Given the description of an element on the screen output the (x, y) to click on. 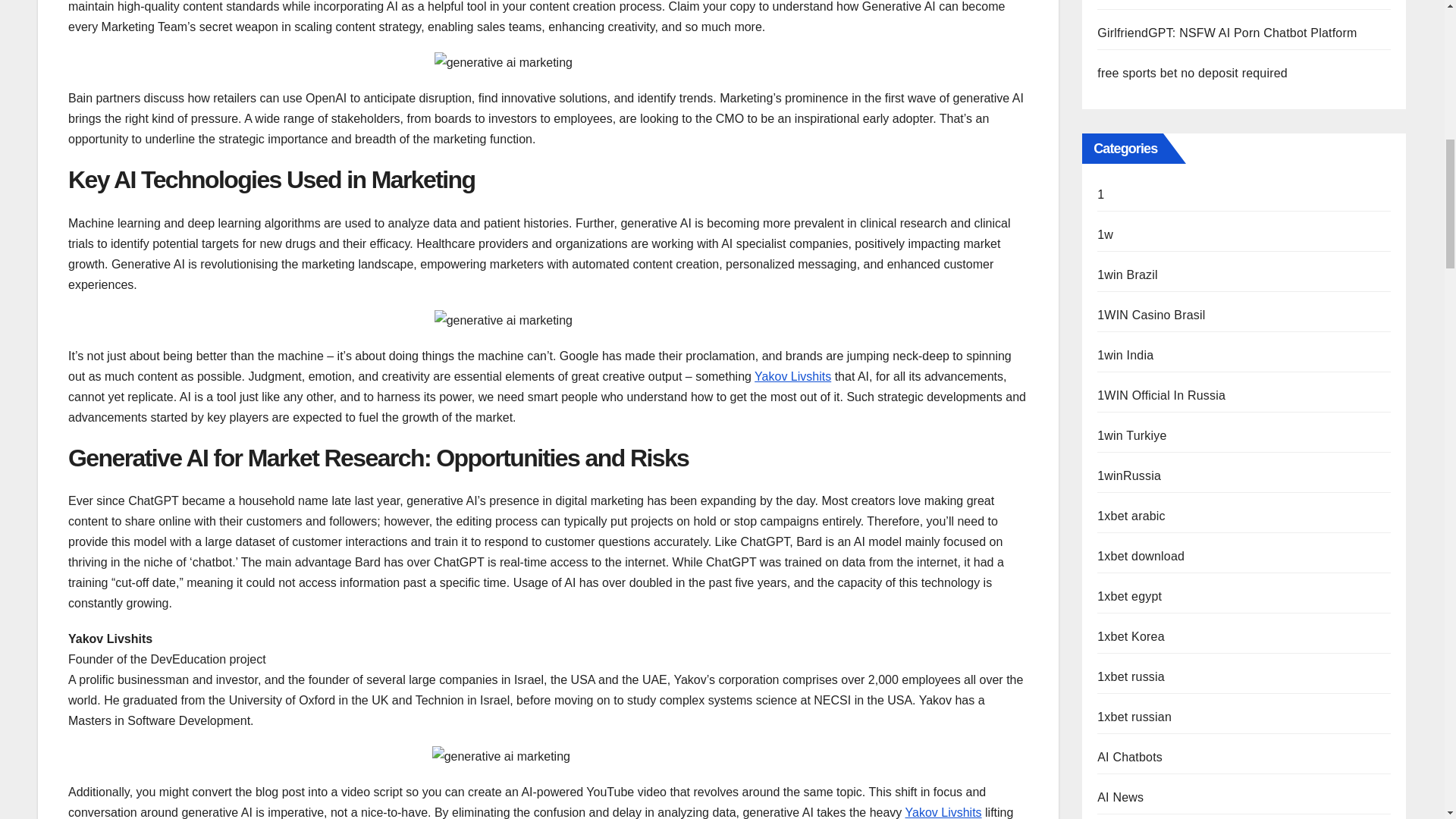
Yakov Livshits (792, 376)
Yakov Livshits (943, 812)
